Given the description of an element on the screen output the (x, y) to click on. 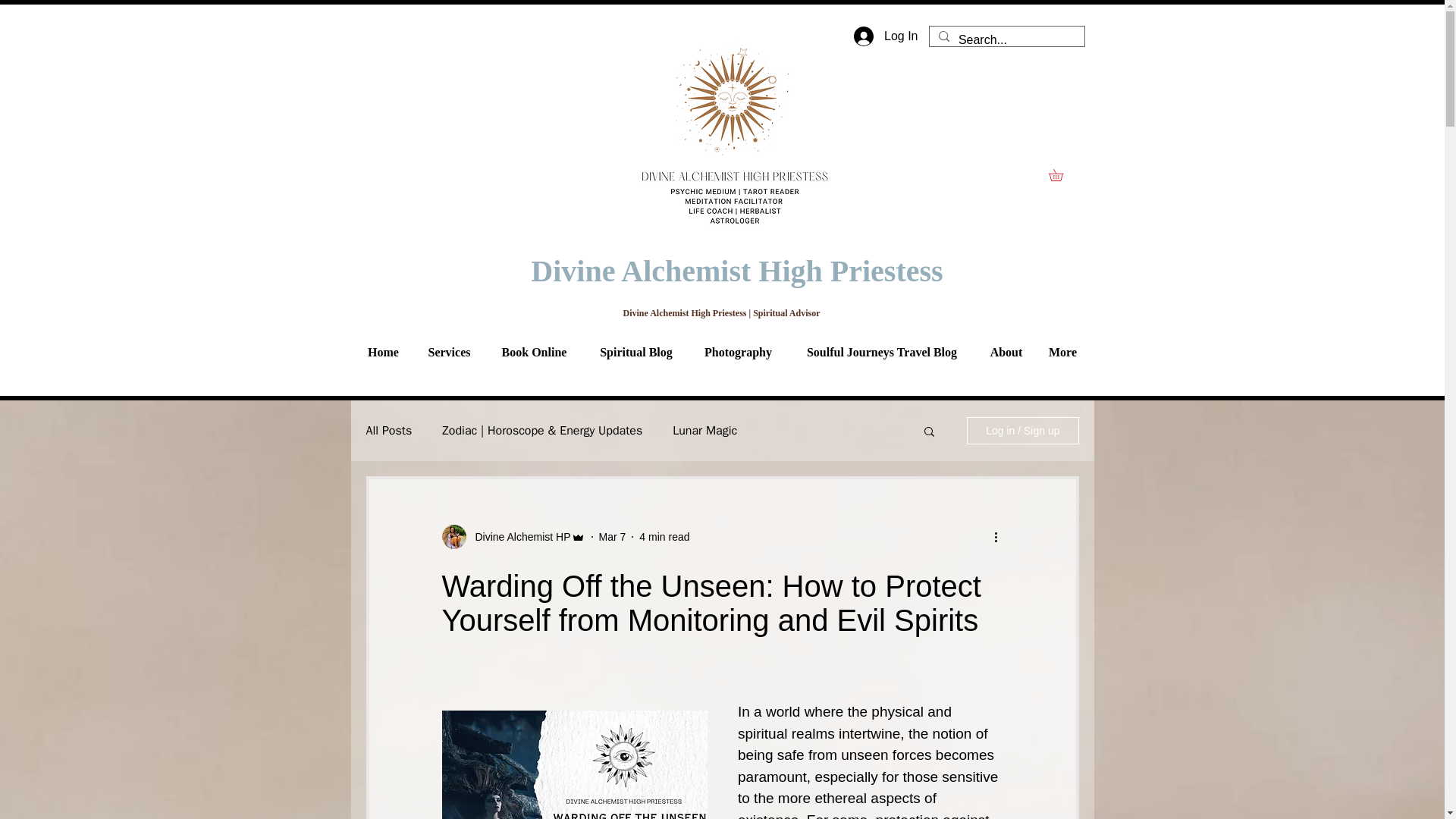
Log In (885, 36)
Services (448, 352)
Spiritual Blog (635, 352)
Lunar Magic (704, 430)
Divine Alchemist High Priestess (736, 270)
Mar 7 (612, 536)
4 min read (663, 536)
About (1005, 352)
Divine Alchemist HP (513, 536)
All Posts (388, 430)
Soulful Journeys Travel Blog (881, 352)
Book Online (533, 352)
Photography (738, 352)
Home (382, 352)
Divine Alchemist HP (517, 537)
